Given the description of an element on the screen output the (x, y) to click on. 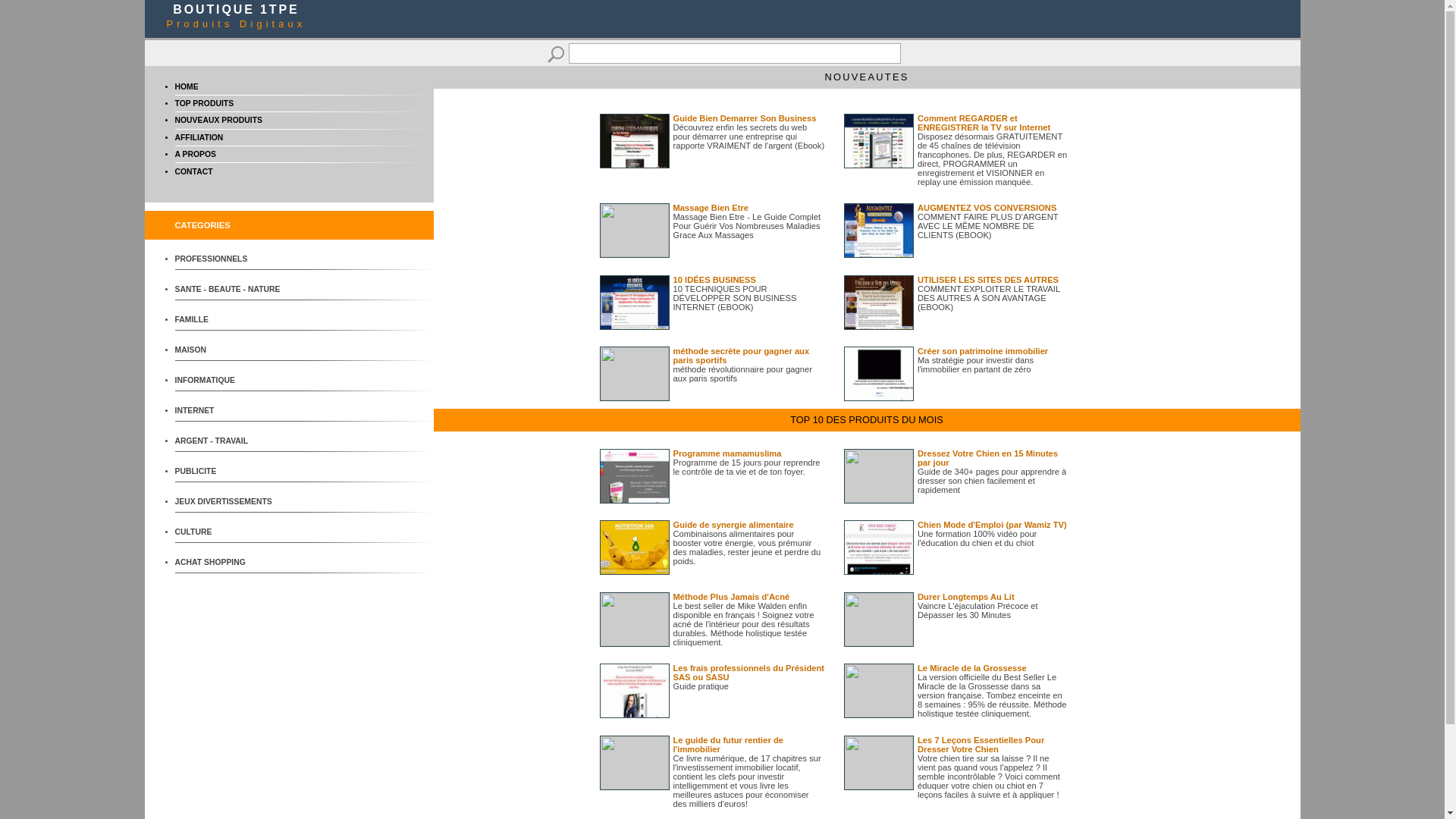
SANTE - BEAUTE - NATURE Element type: text (231, 289)
FAMILLE Element type: text (231, 319)
Le Miracle de la Grossesse Element type: text (971, 667)
Dressez Votre Chien en 15 Minutes par jour Element type: text (987, 457)
MAISON Element type: text (231, 349)
AFFILIATION Element type: text (198, 137)
AUGMENTEZ VOS CONVERSIONS Element type: text (986, 207)
Le guide du futur rentier de l'immobilier Element type: text (728, 744)
NOUVEAUX PRODUITS Element type: text (217, 120)
Comment REGARDER et ENREGISTRER la TV sur Internet Element type: text (983, 122)
JEUX DIVERTISSEMENTS Element type: text (231, 501)
UTILISER LES SITES DES AUTRES Element type: text (987, 279)
INTERNET Element type: text (231, 410)
INFORMATIQUE Element type: text (231, 380)
Guide de synergie alimentaire Element type: text (733, 524)
Programme mamamuslima Element type: text (727, 453)
A PROPOS Element type: text (194, 154)
HOME Element type: text (185, 86)
CONTACT Element type: text (193, 171)
PUBLICITE Element type: text (231, 471)
Guide pratique Element type: text (700, 685)
CULTURE Element type: text (231, 531)
Durer Longtemps Au Lit Element type: text (965, 596)
Massage Bien Etre Element type: text (711, 207)
PROFESSIONNELS Element type: text (231, 258)
ARGENT - TRAVAIL Element type: text (231, 440)
ACHAT SHOPPING Element type: text (231, 562)
TOP PRODUITS Element type: text (203, 103)
Chien Mode d'Emploi (par Wamiz TV) Element type: text (991, 524)
Guide Bien Demarrer Son Business Element type: text (744, 117)
